Given the description of an element on the screen output the (x, y) to click on. 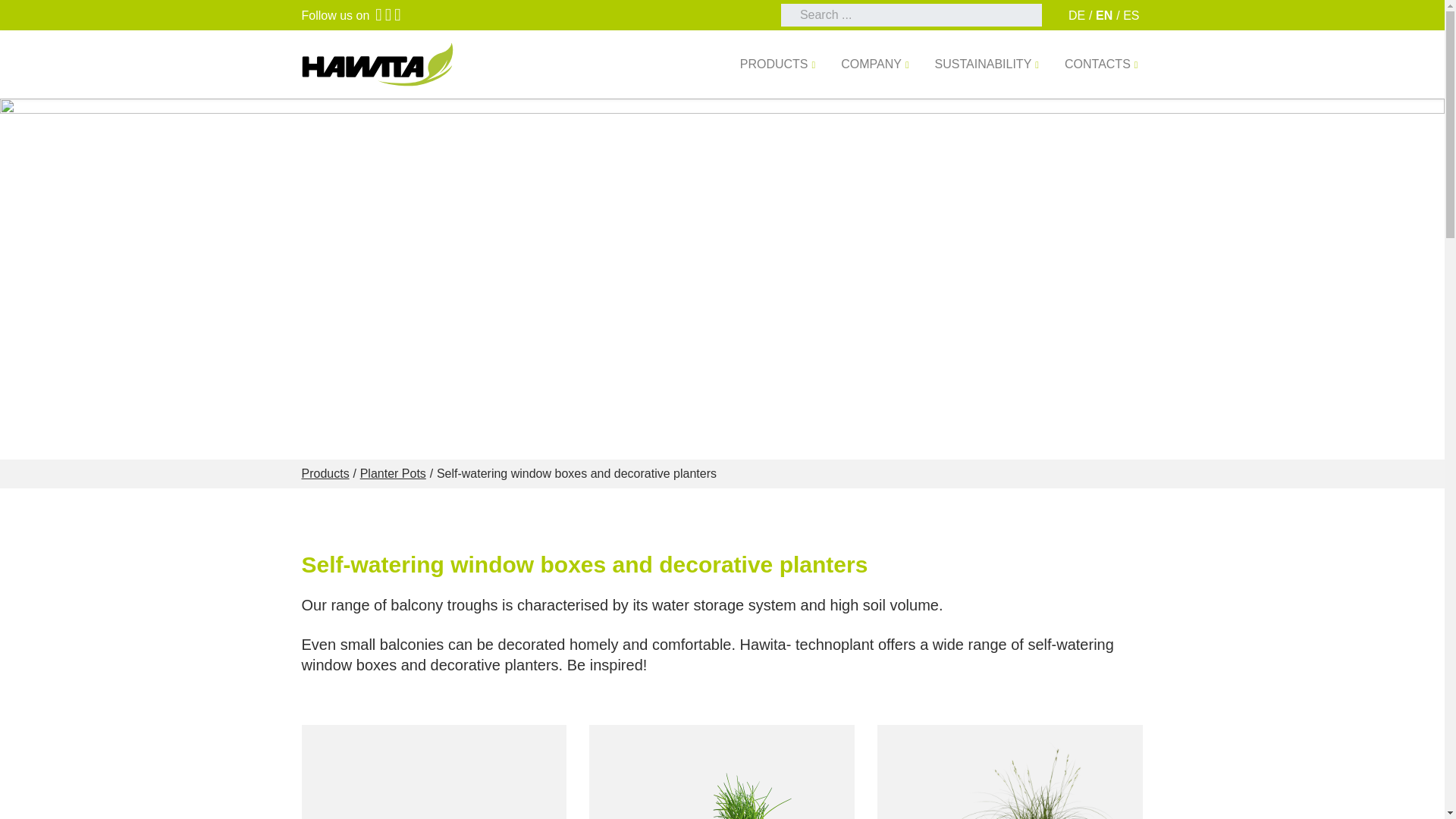
Products (325, 472)
ES (1130, 15)
EN (1104, 15)
PRODUCTS (778, 64)
COMPANY (874, 64)
Contacts (1100, 64)
DE (1076, 15)
CONTACTS (1100, 64)
SUSTAINABILITY (986, 64)
Company (874, 64)
Products (778, 64)
Planter Pots (392, 472)
Sustainability (986, 64)
